Given the description of an element on the screen output the (x, y) to click on. 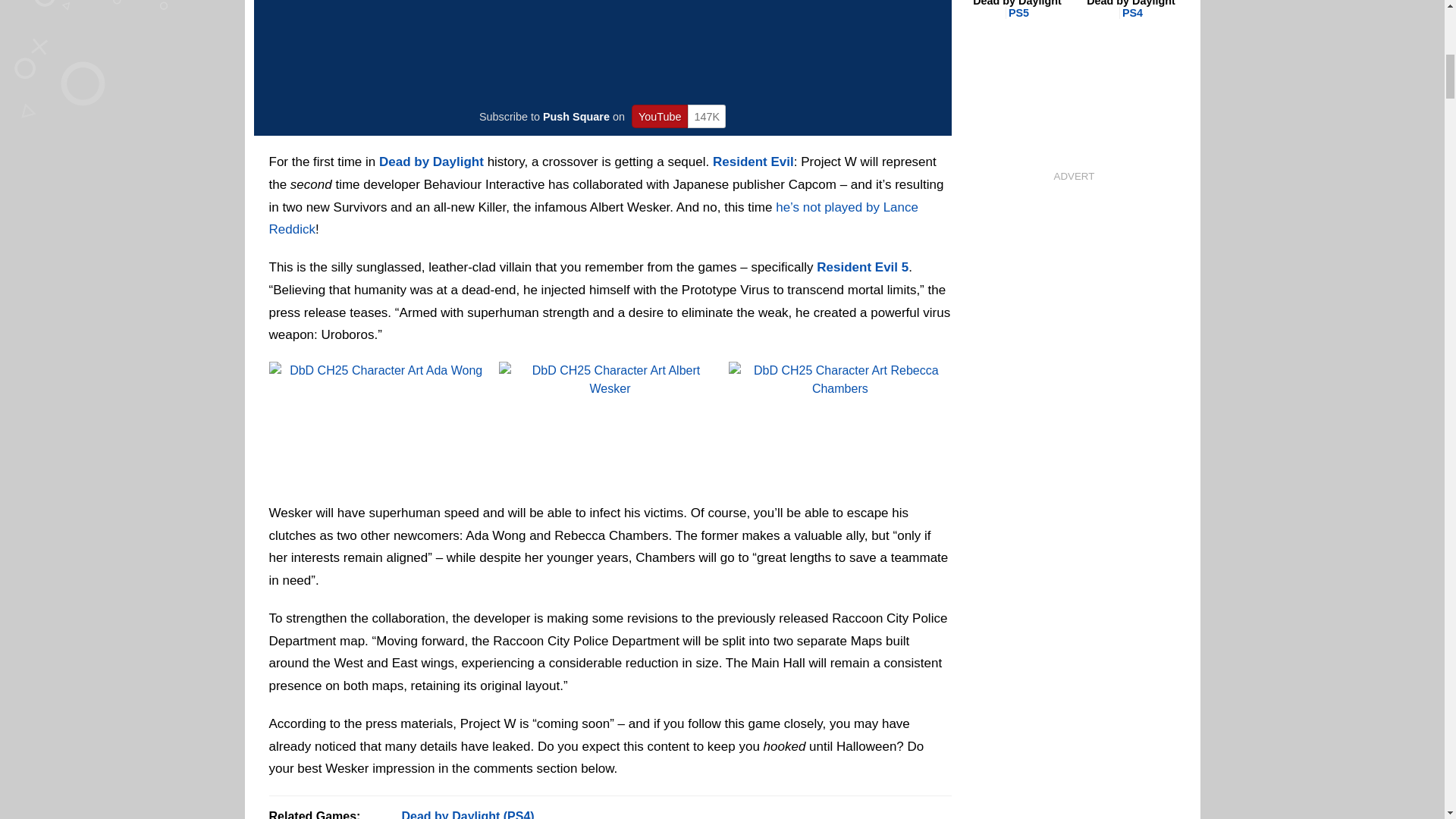
DbD CH25 Character Art Ada Wong (378, 423)
YouTube Video (605, 48)
DbD CH25 Character Art Albert Wesker (609, 423)
DbD CH25 Character Art Rebecca Chambers (839, 423)
